Given the description of an element on the screen output the (x, y) to click on. 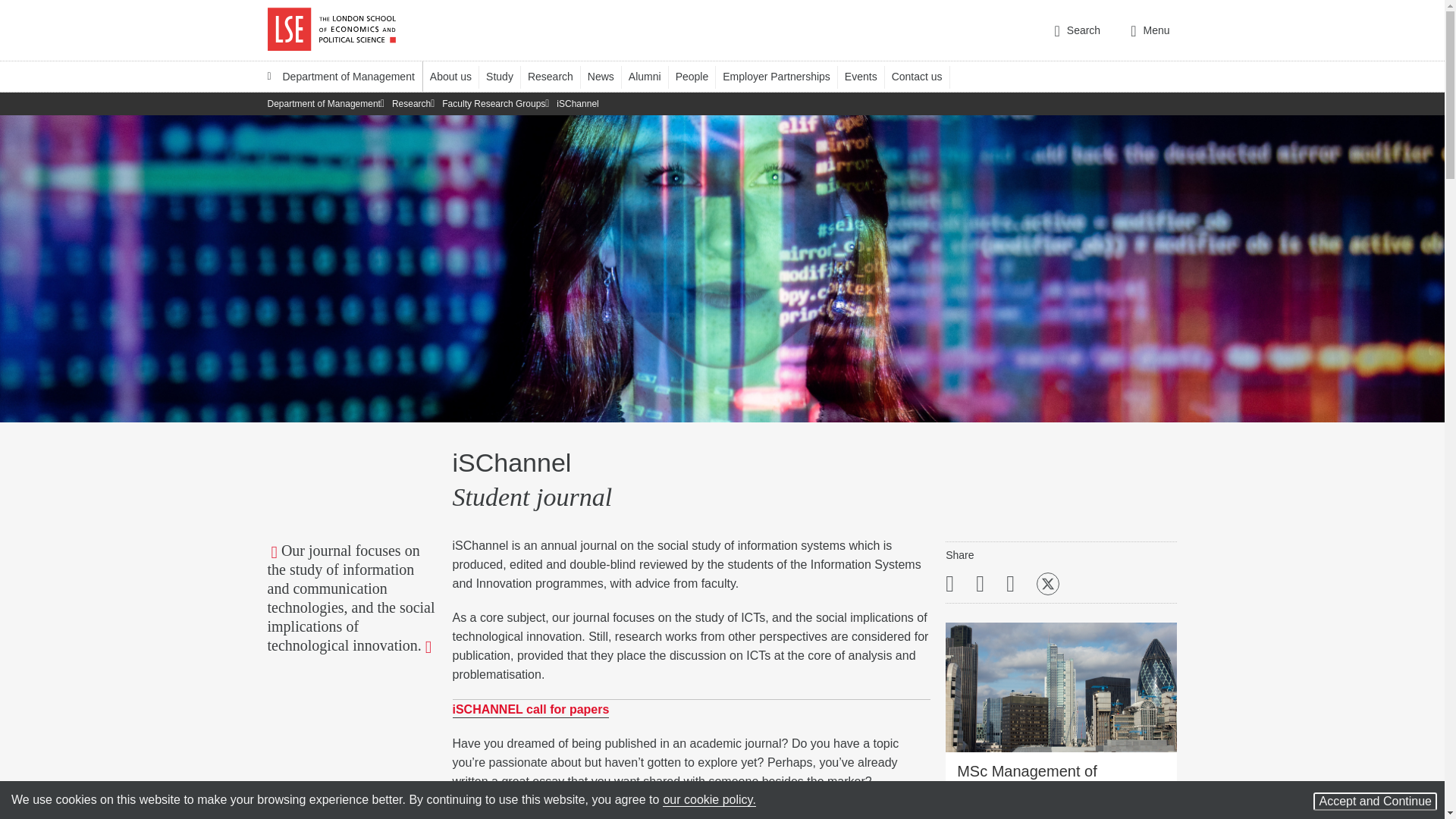
Search (1077, 30)
London School of Economics and Political Science (330, 30)
News (608, 76)
People (699, 76)
Department of Management (340, 76)
Department of Management (340, 76)
Accept and Continue (1375, 801)
Alumni (651, 76)
Employer Partnerships (783, 76)
Alumni (651, 76)
People (699, 76)
Menu (1150, 30)
Research (557, 76)
Events (867, 76)
Contact us (923, 76)
